Given the description of an element on the screen output the (x, y) to click on. 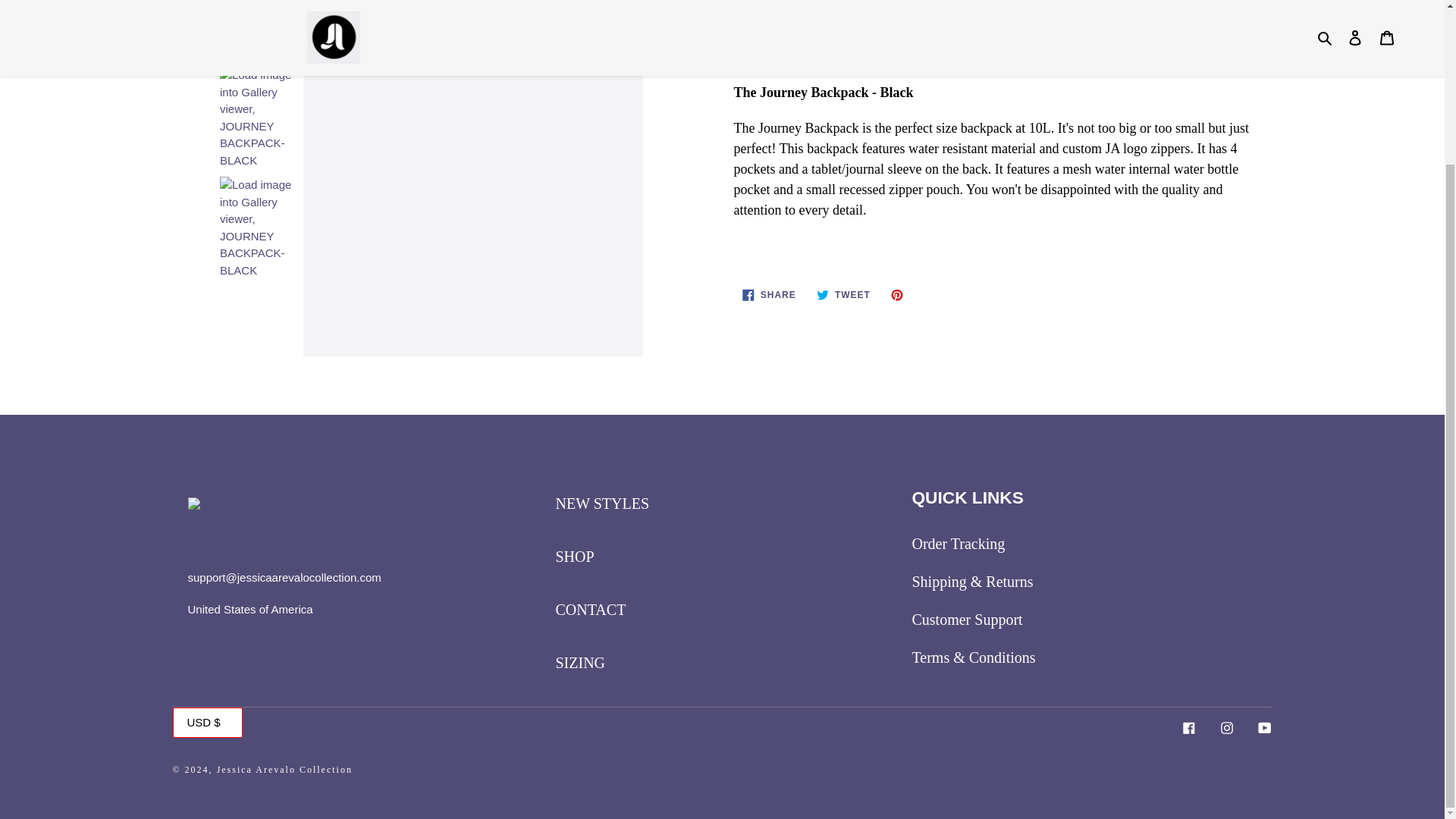
1 (814, 9)
Order Tracking (957, 543)
PIN ON PINTEREST (899, 294)
ADD TO CART (884, 42)
NEW STYLES (601, 503)
SHOP (574, 556)
CONTACT (590, 609)
SIZING (769, 294)
